Given the description of an element on the screen output the (x, y) to click on. 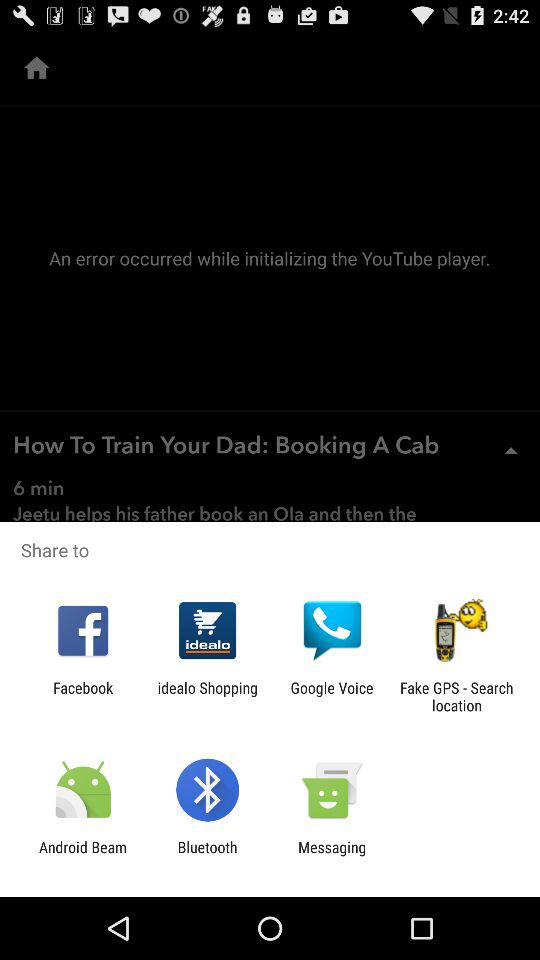
launch icon to the left of fake gps search icon (331, 696)
